Given the description of an element on the screen output the (x, y) to click on. 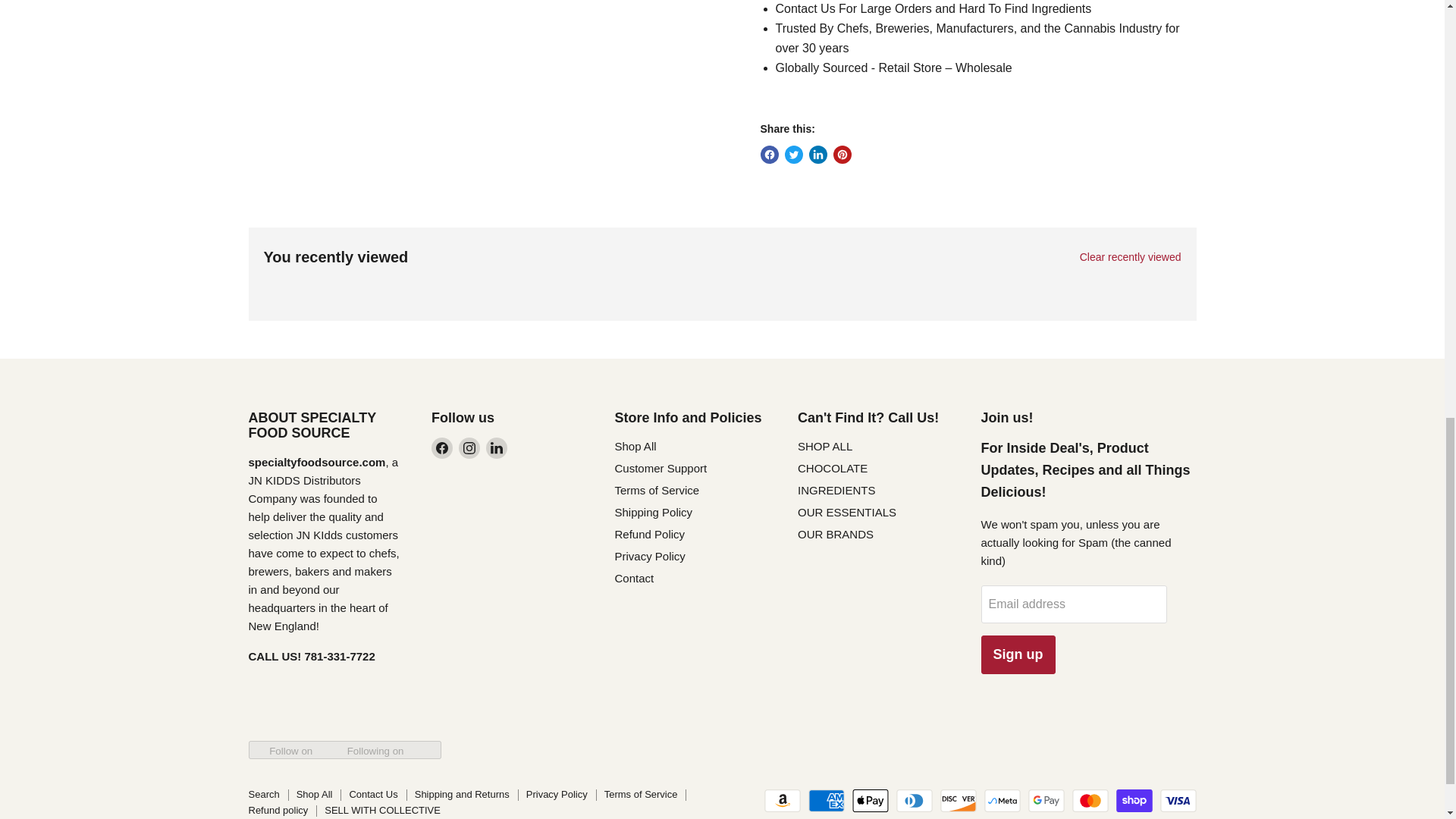
LinkedIn (496, 447)
Instagram (469, 447)
Facebook (441, 447)
